Given the description of an element on the screen output the (x, y) to click on. 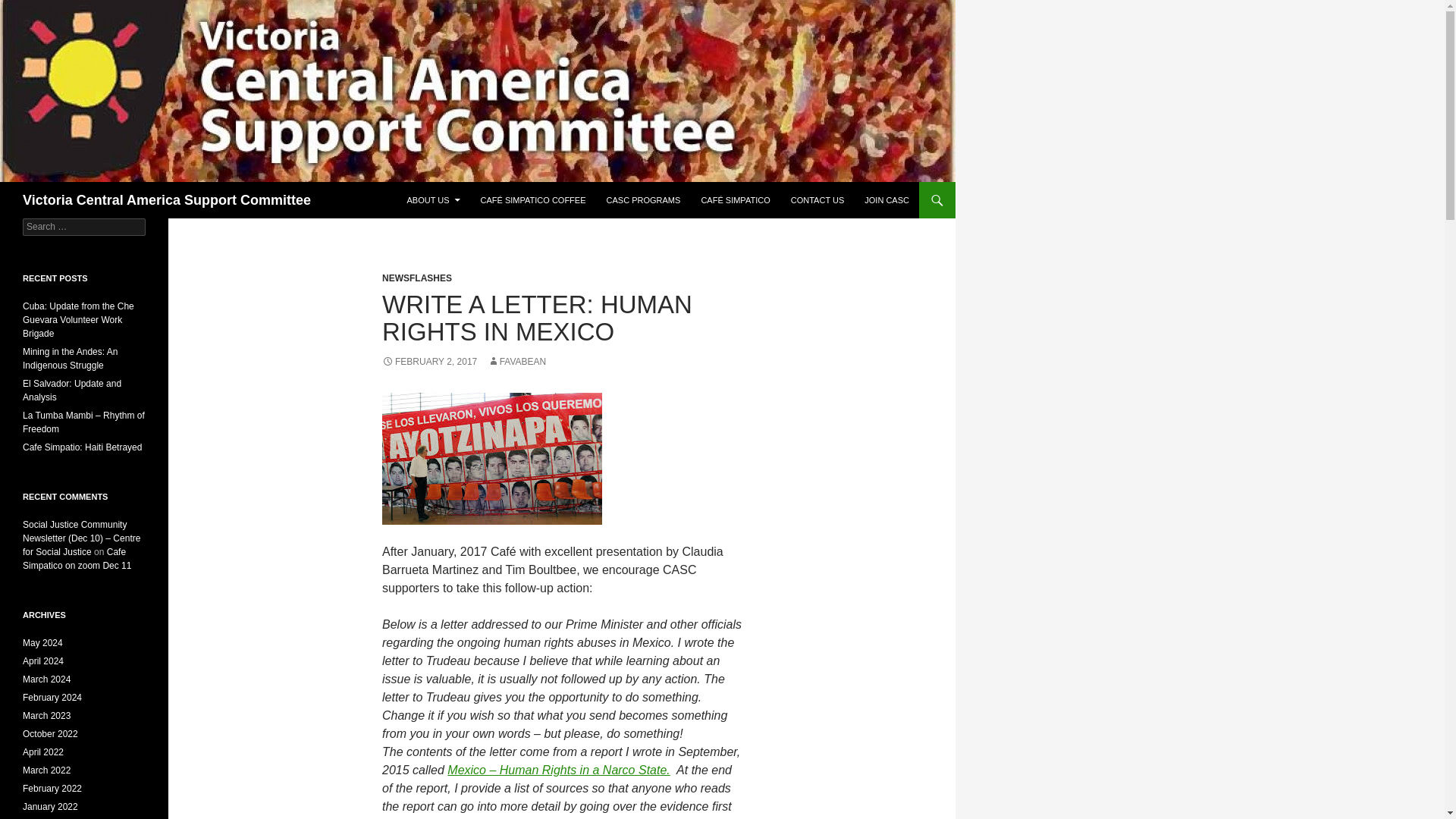
Cafe Simpatio: Haiti Betrayed (82, 447)
February 2024 (52, 697)
April 2024 (43, 661)
February 2022 (52, 787)
Victoria Central America Support Committee (167, 199)
El Salvador: Update and Analysis (71, 390)
JOIN CASC (887, 199)
March 2024 (46, 679)
CONTACT US (817, 199)
April 2022 (43, 751)
March 2022 (46, 769)
Search (30, 8)
FEBRUARY 2, 2017 (429, 361)
ABOUT US (432, 199)
